Given the description of an element on the screen output the (x, y) to click on. 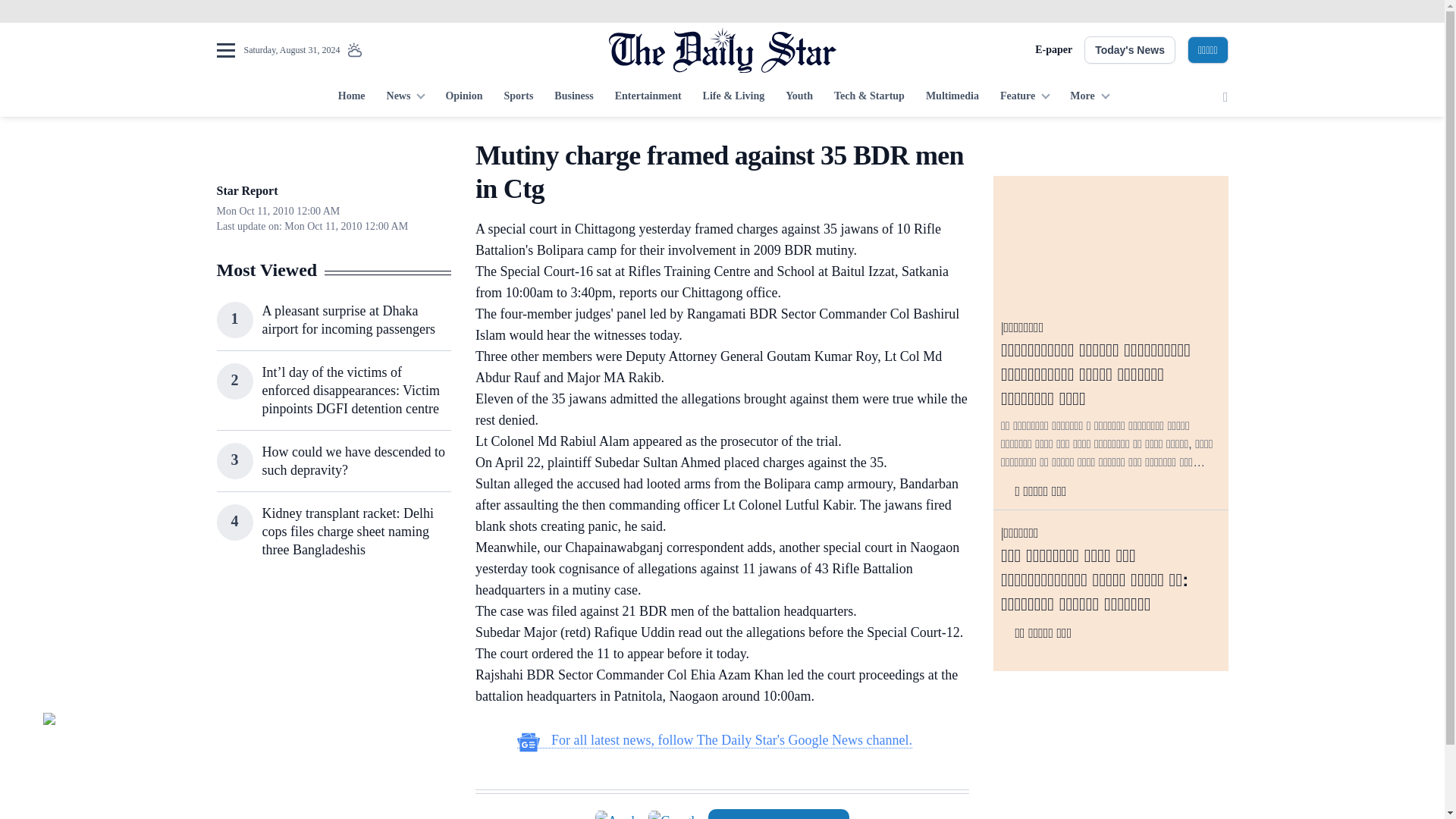
Sports (518, 96)
Feature (1024, 96)
E-paper (1053, 49)
Youth (799, 96)
Entertainment (647, 96)
Business (573, 96)
News (405, 96)
Multimedia (952, 96)
Opinion (463, 96)
